Given the description of an element on the screen output the (x, y) to click on. 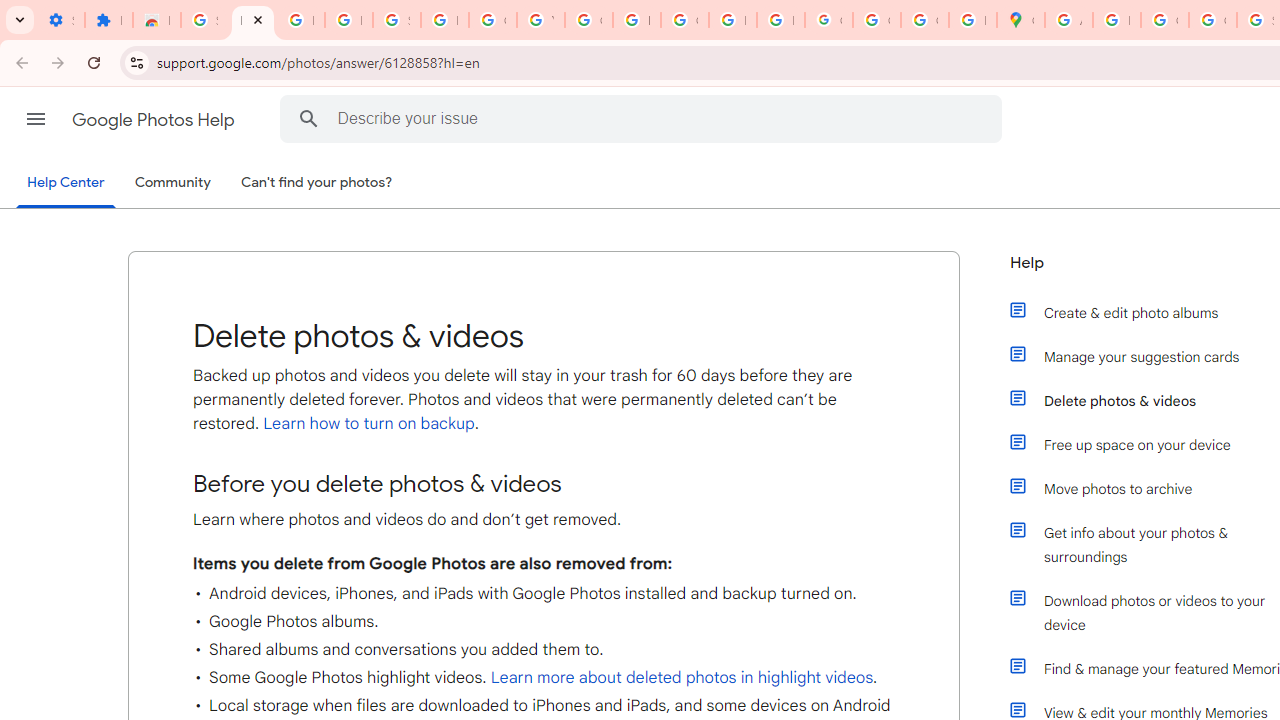
Sign in - Google Accounts (396, 20)
Community (171, 183)
Search Help Center (309, 118)
https://scholar.google.com/ (636, 20)
Learn how to find your photos - Google Photos Help (300, 20)
YouTube (540, 20)
Google Maps (1020, 20)
Reviews: Helix Fruit Jump Arcade Game (156, 20)
